Given the description of an element on the screen output the (x, y) to click on. 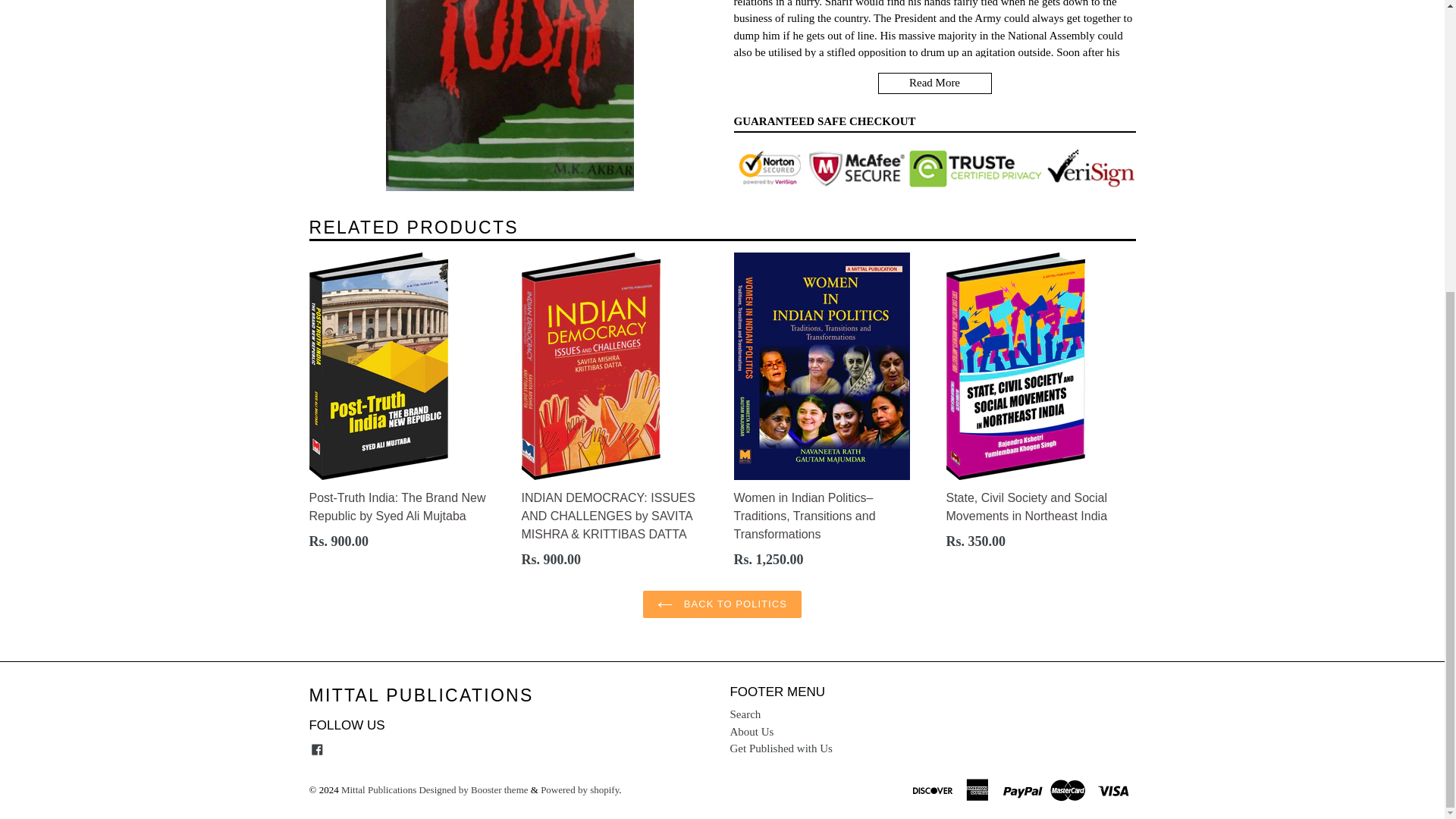
visa (1114, 788)
paypal (1024, 788)
american express (979, 788)
discover (933, 788)
Read More (934, 83)
Mittal Publications on Facebook (316, 748)
